Given the description of an element on the screen output the (x, y) to click on. 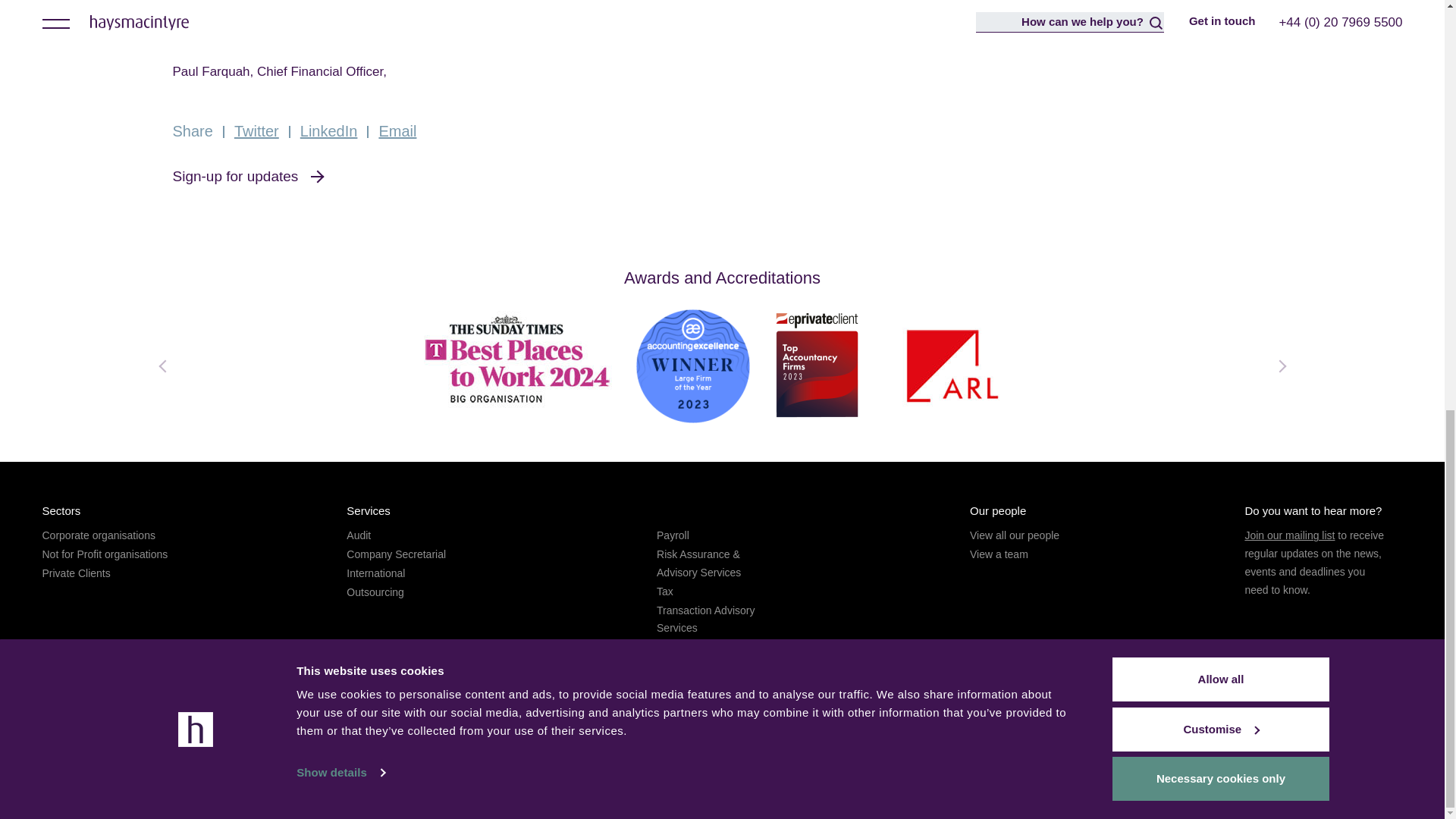
Share on LinkedIn - opens in a new window (328, 130)
Share on Twitter - opens in a new window (256, 130)
